Given the description of an element on the screen output the (x, y) to click on. 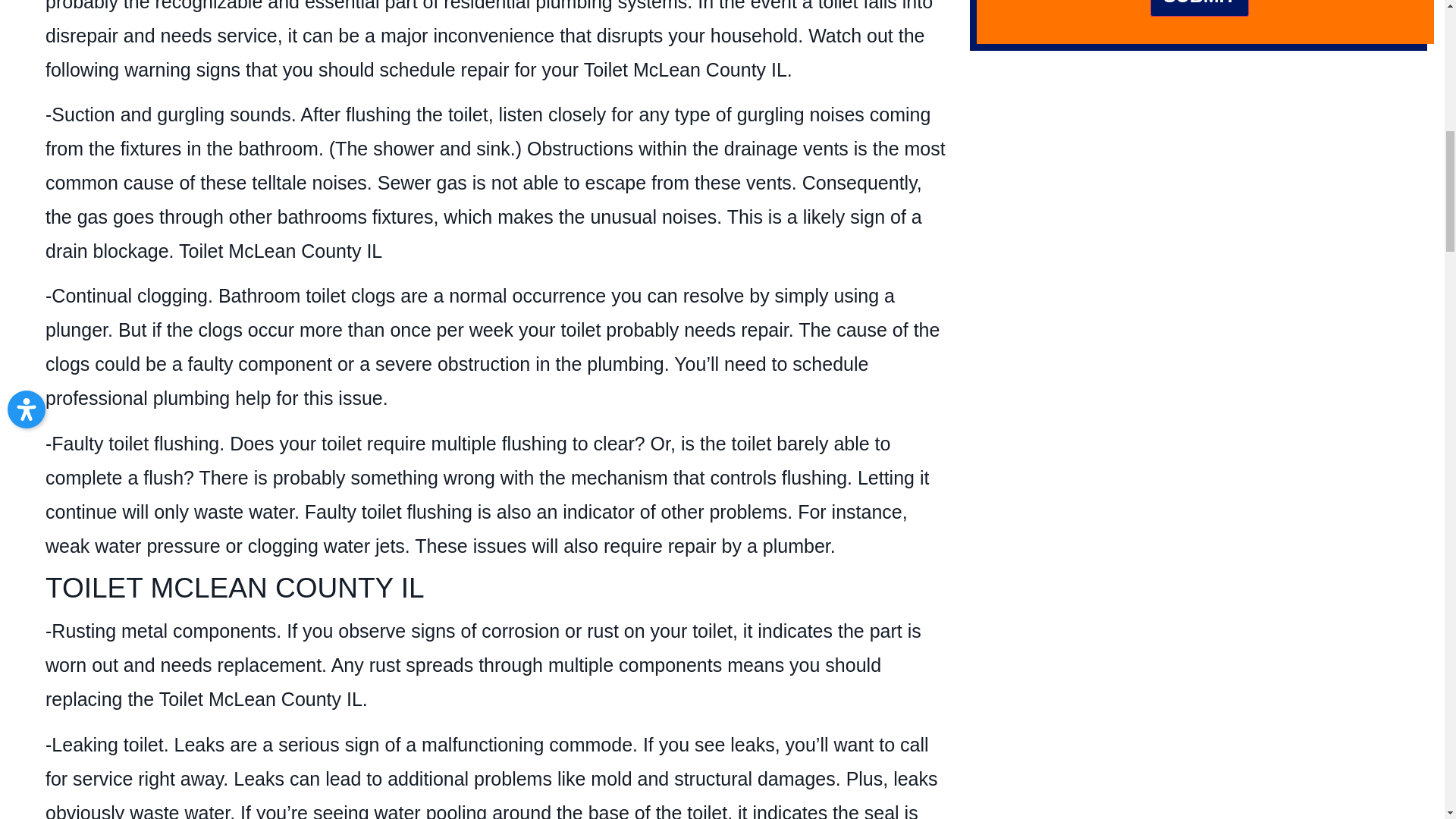
Submit (1199, 8)
Submit (1199, 8)
